Given the description of an element on the screen output the (x, y) to click on. 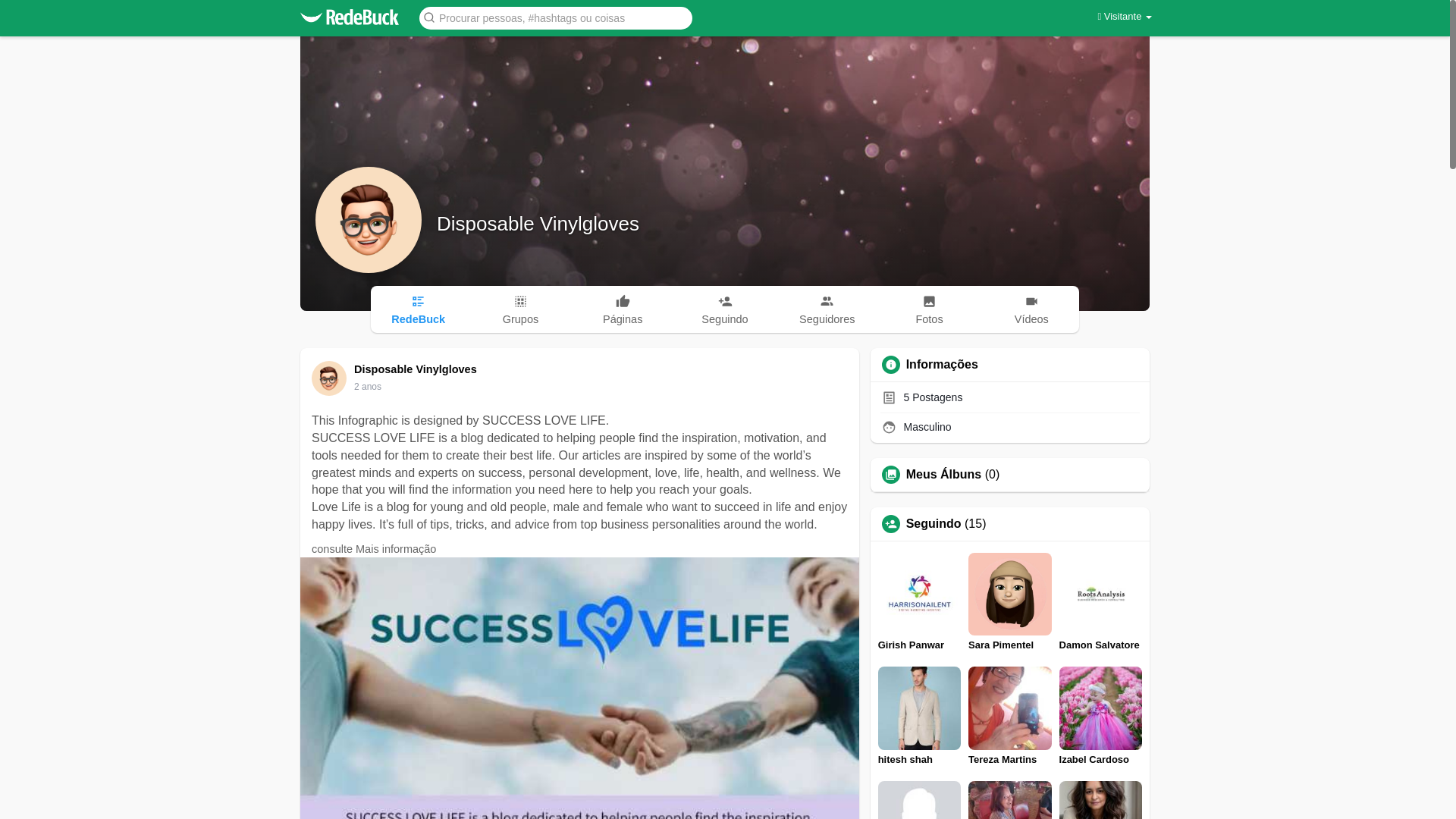
2 anos (367, 386)
Visitante (1123, 17)
RedeBuck (418, 308)
Fotos (929, 308)
Seguindo (725, 308)
Seguidores (826, 308)
Disposable Vinylgloves (537, 223)
Disposable Vinylgloves (417, 369)
Grupos (520, 308)
2 anos (367, 386)
